Given the description of an element on the screen output the (x, y) to click on. 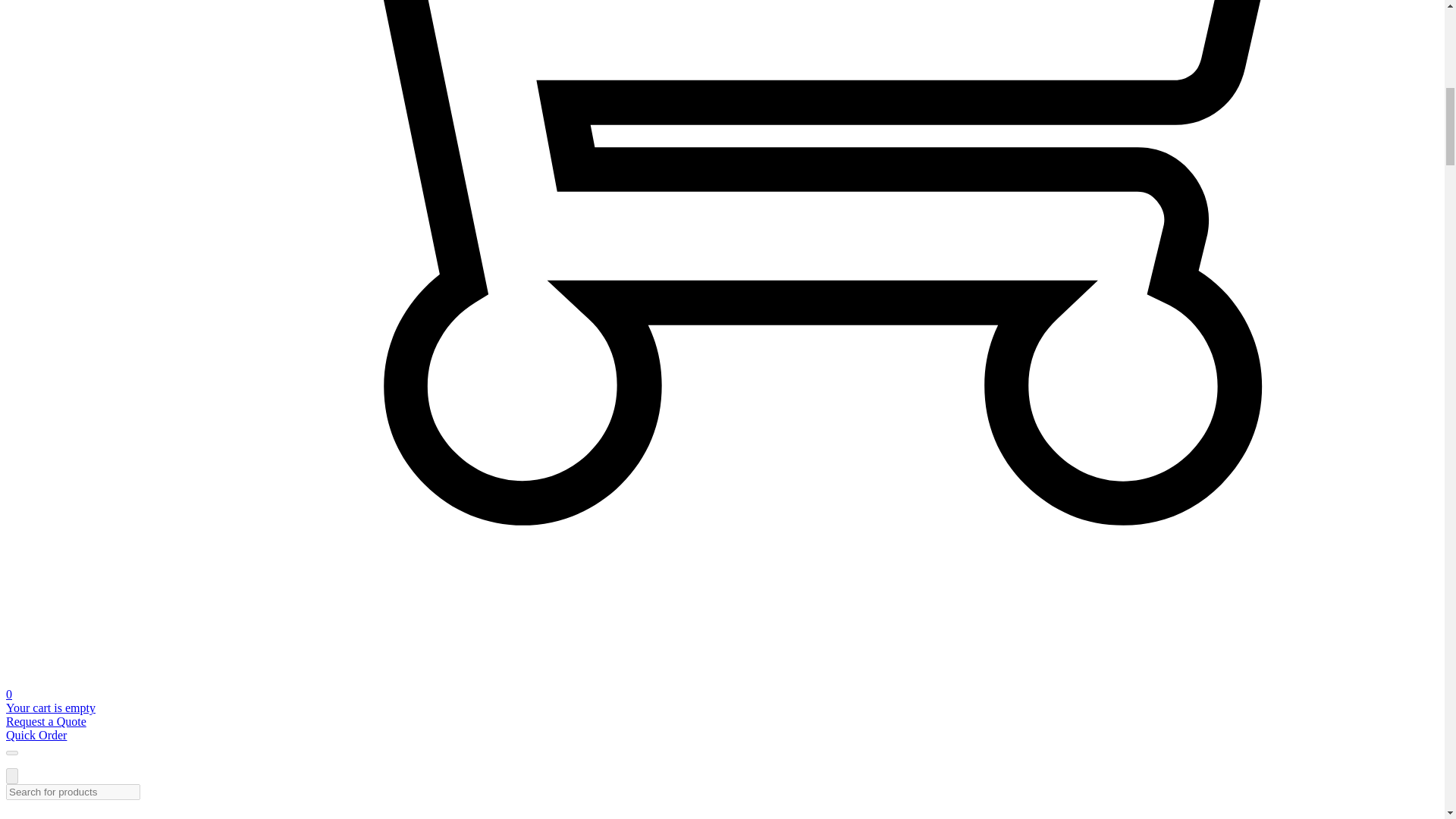
Your cart is empty (50, 707)
Quick Order (35, 735)
Request a Quote (45, 721)
Request a Quote (45, 721)
Quick Order (35, 735)
